Given the description of an element on the screen output the (x, y) to click on. 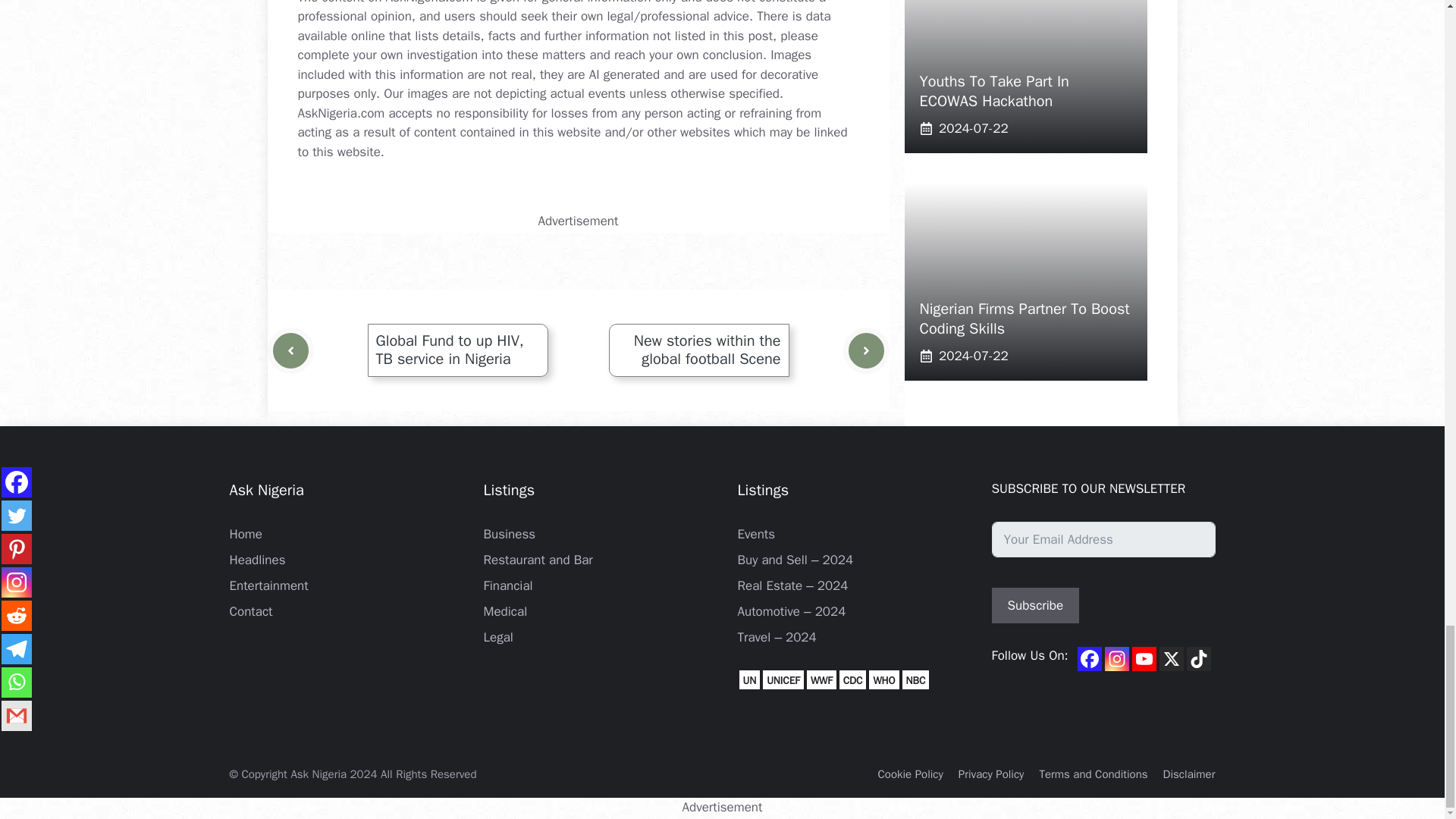
Facebook (1089, 658)
Instagram (1117, 658)
Youtube channel (1144, 658)
